Given the description of an element on the screen output the (x, y) to click on. 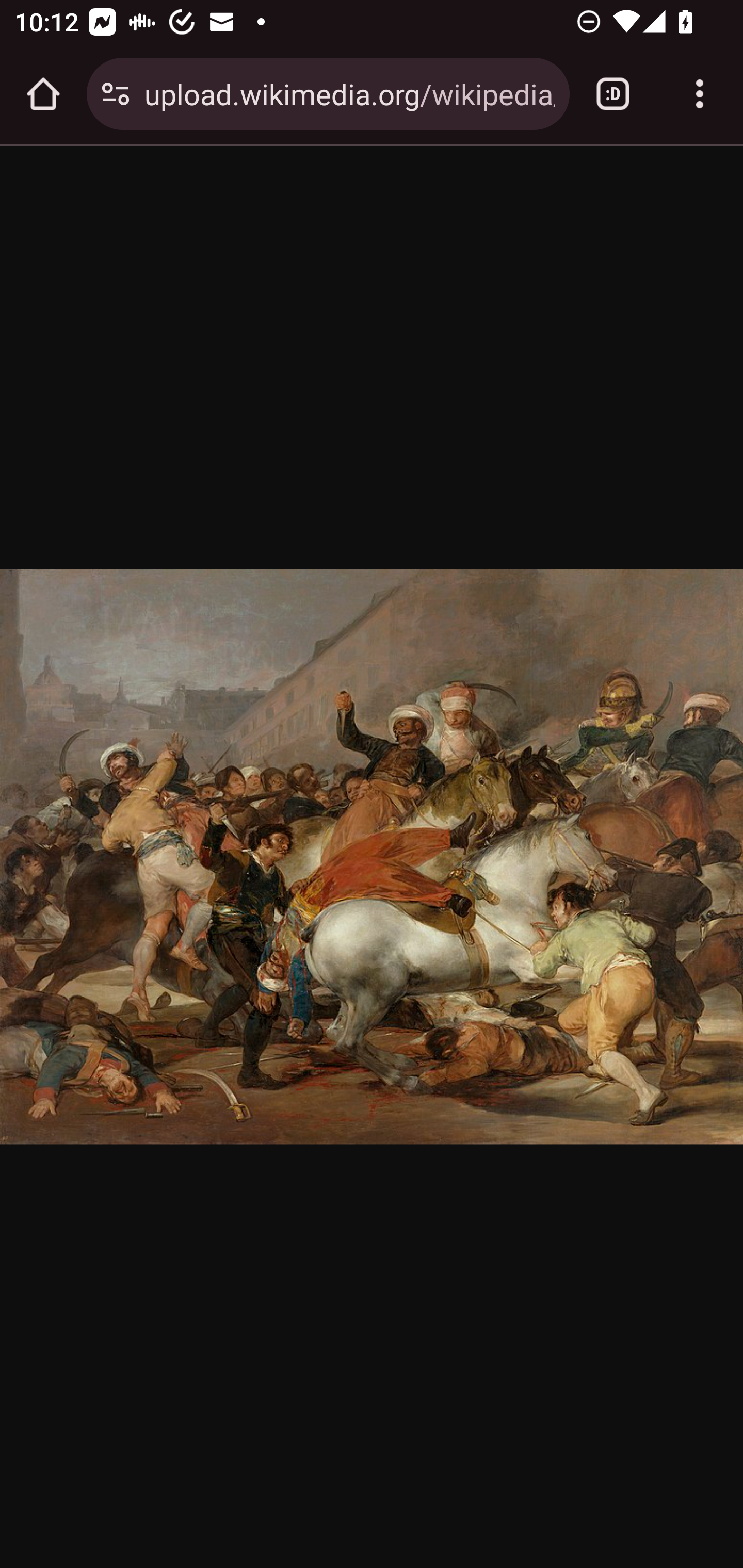
Open the home page (43, 93)
Connection is secure (115, 93)
Switch or close tabs (612, 93)
Customize and control Google Chrome (699, 93)
